Given the description of an element on the screen output the (x, y) to click on. 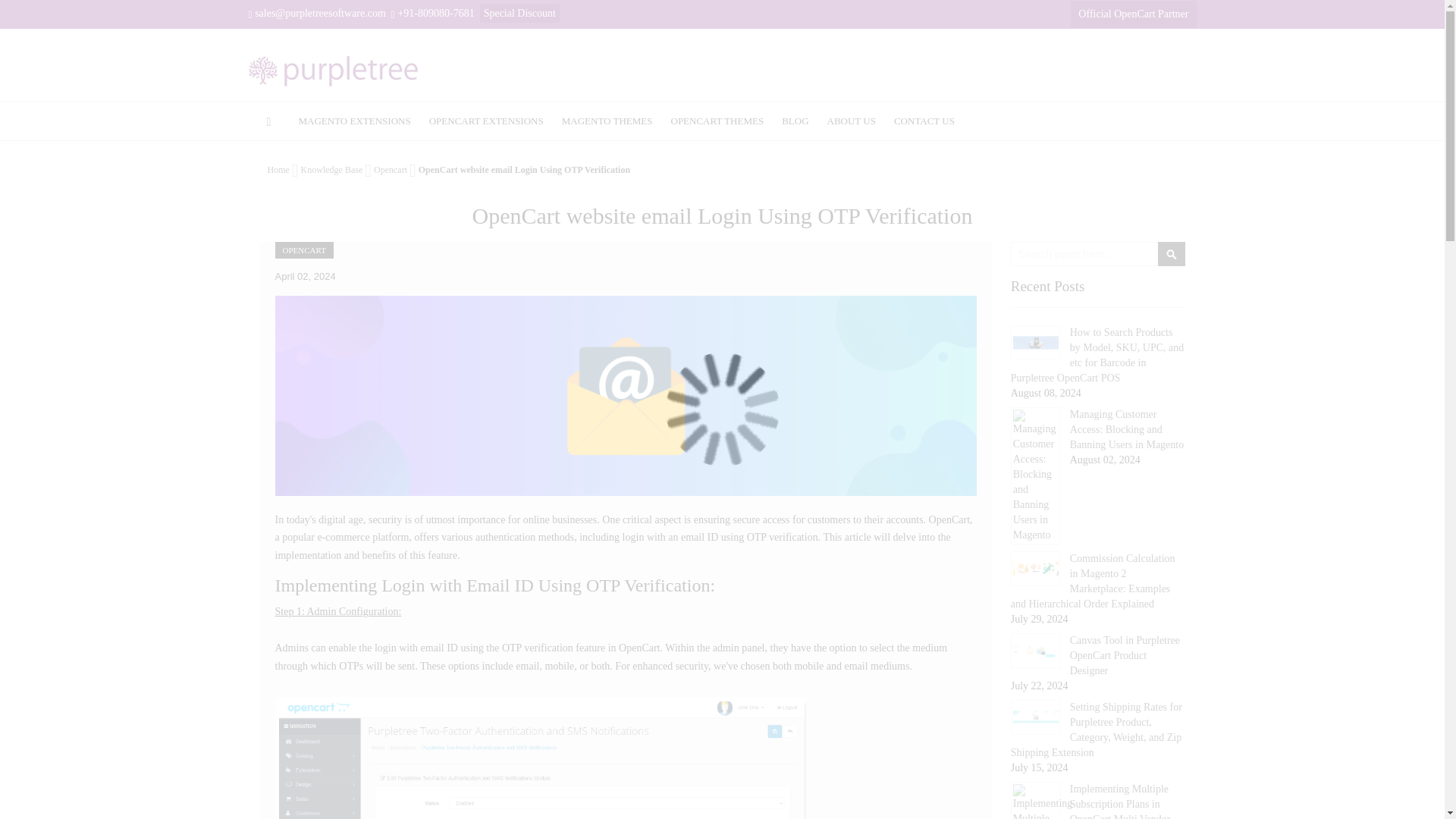
Opencart (390, 169)
MAGENTO EXTENSIONS (354, 121)
Search (1171, 253)
CONTACT US (924, 121)
Go to Home Page (277, 169)
Home (277, 169)
ABOUT US (851, 121)
BLOG (794, 121)
